Given the description of an element on the screen output the (x, y) to click on. 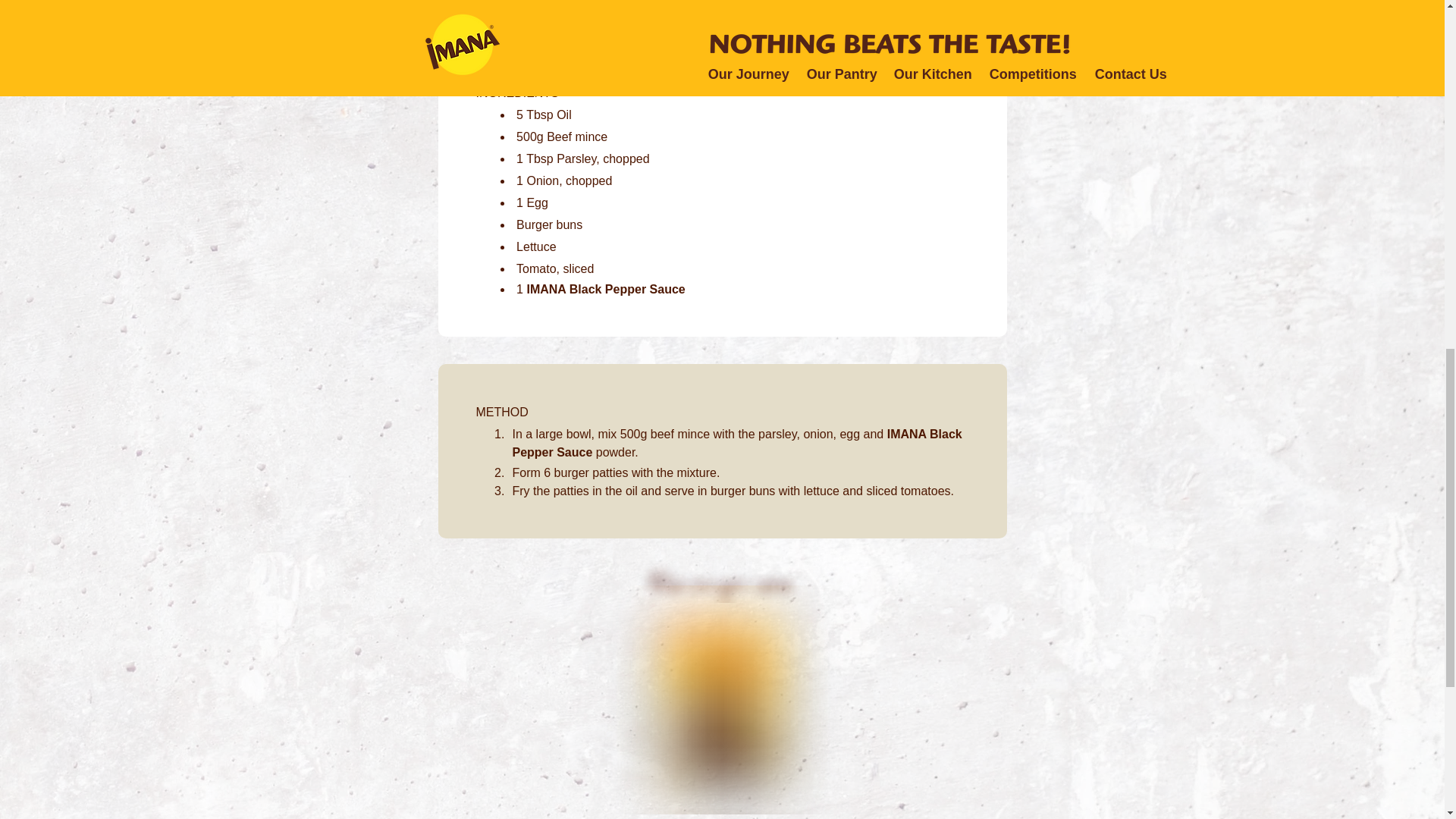
Pepper Burger.jpg (722, 10)
